Given the description of an element on the screen output the (x, y) to click on. 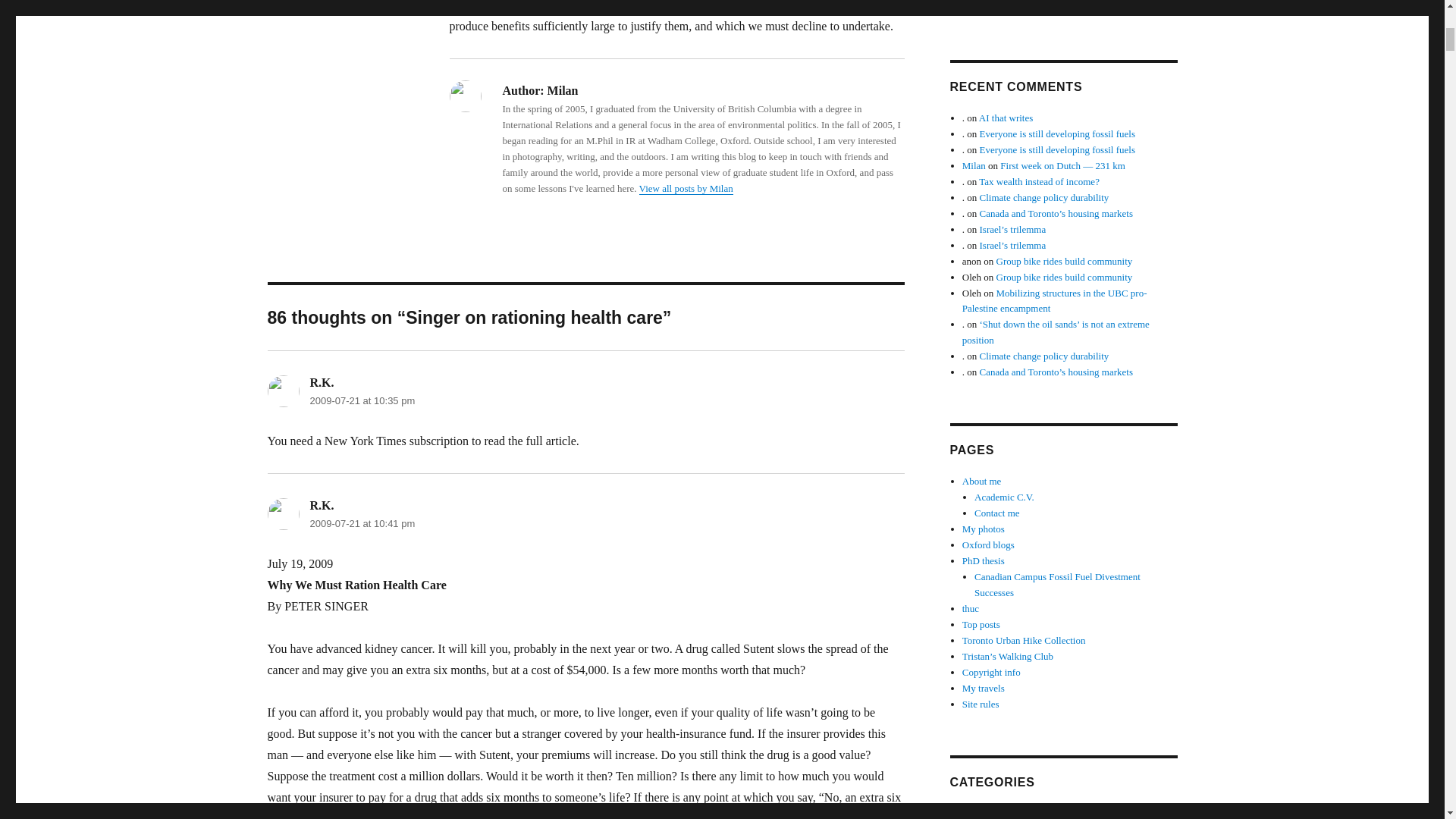
2009-07-21 at 10:35 pm (361, 400)
View all posts by Milan (686, 188)
2009-07-21 at 10:41 pm (361, 523)
